Given the description of an element on the screen output the (x, y) to click on. 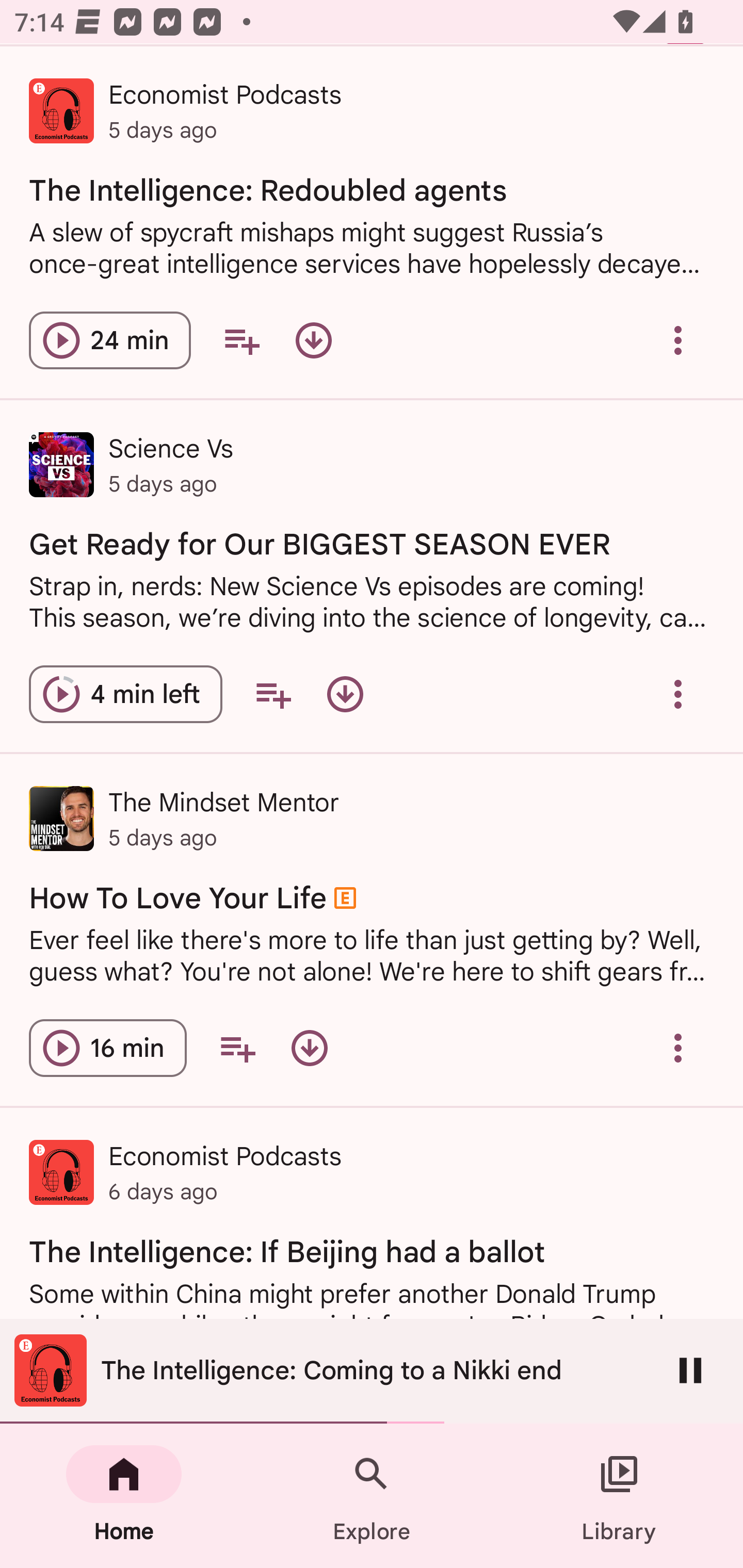
Add to your queue (241, 340)
Download episode (313, 340)
Overflow menu (677, 340)
Add to your queue (273, 693)
Download episode (345, 693)
Overflow menu (677, 693)
Play episode How To Love Your Life 16 min (107, 1048)
Add to your queue (237, 1048)
Download episode (309, 1048)
Overflow menu (677, 1048)
Pause (690, 1370)
Explore (371, 1495)
Library (619, 1495)
